Given the description of an element on the screen output the (x, y) to click on. 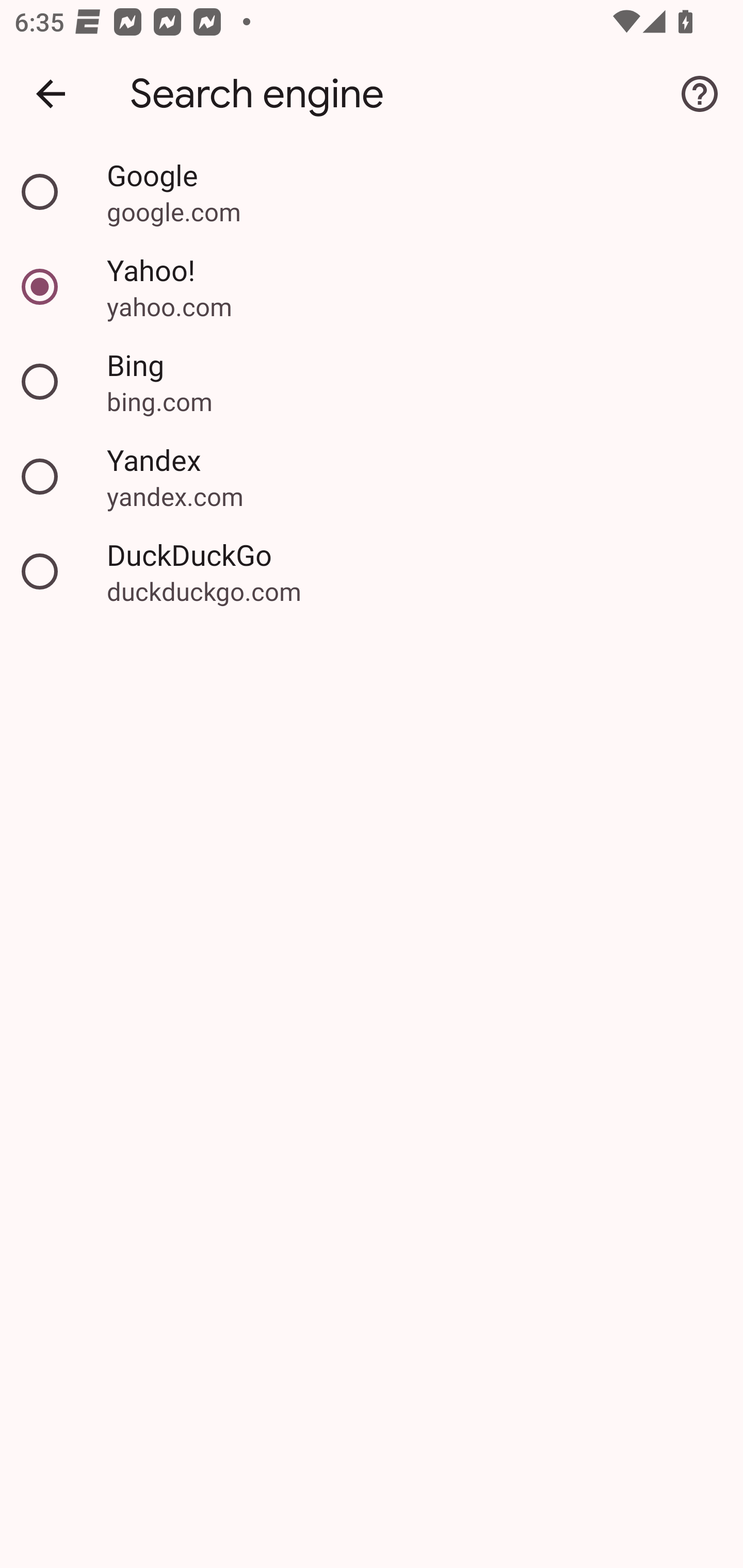
Navigate up (50, 93)
Help & feedback (699, 93)
Google google.com (371, 191)
Yahoo! yahoo.com (371, 286)
Bing bing.com (371, 381)
Yandex yandex.com (371, 476)
DuckDuckGo duckduckgo.com (371, 571)
